Given the description of an element on the screen output the (x, y) to click on. 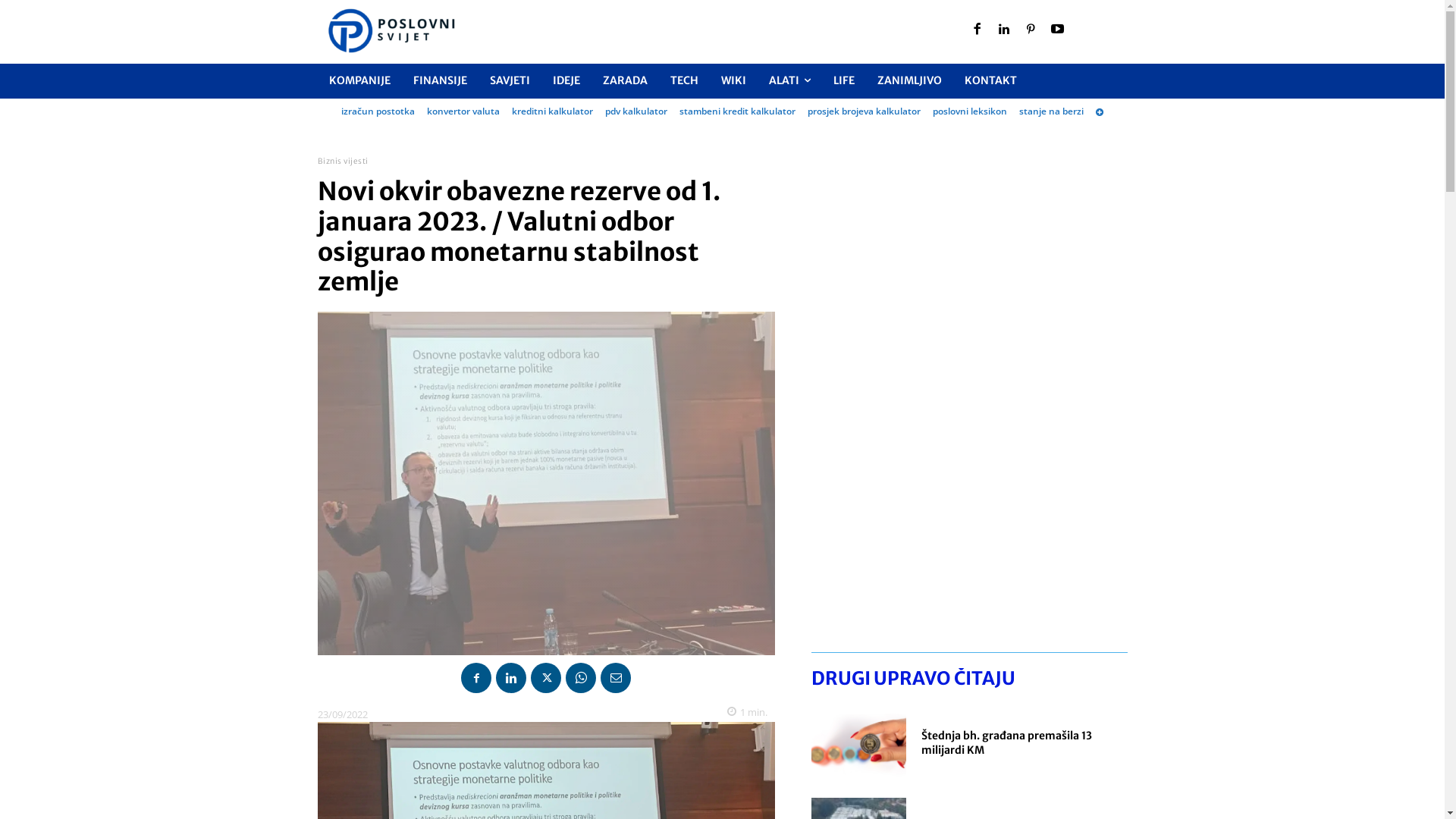
Email Element type: hover (615, 677)
IDEJE Element type: text (566, 80)
pdv kalkulator Element type: text (636, 111)
Advertisement Element type: hover (968, 400)
ZANIMLJIVO Element type: text (909, 80)
Twitter Element type: hover (545, 677)
stambeni kredit kalkulator Element type: text (737, 111)
konvertor valuta Element type: text (462, 111)
Linkedin Element type: hover (1003, 30)
FINANSIJE Element type: text (439, 80)
Facebook Element type: hover (977, 30)
poslovni leksikon Element type: text (969, 111)
Linkedin Element type: hover (510, 677)
ALATI Element type: text (788, 80)
Youtube Element type: hover (1057, 30)
stanje na berzi Element type: text (1051, 111)
KONTAKT Element type: text (989, 80)
WhatsApp Element type: hover (580, 677)
prosjek brojeva kalkulator Element type: text (863, 111)
Novi okvir obavezne rezerve od 1. januara 2023. / Valutni Element type: hover (545, 483)
ZARADA Element type: text (624, 80)
TECH Element type: text (683, 80)
SAVJETI Element type: text (508, 80)
Pinterest Element type: hover (1030, 30)
Biznis vijesti Element type: text (341, 161)
WIKI Element type: text (733, 80)
Facebook Element type: hover (476, 677)
kreditni kalkulator Element type: text (552, 111)
LIFE Element type: text (844, 80)
KOMPANIJE Element type: text (358, 80)
